Given the description of an element on the screen output the (x, y) to click on. 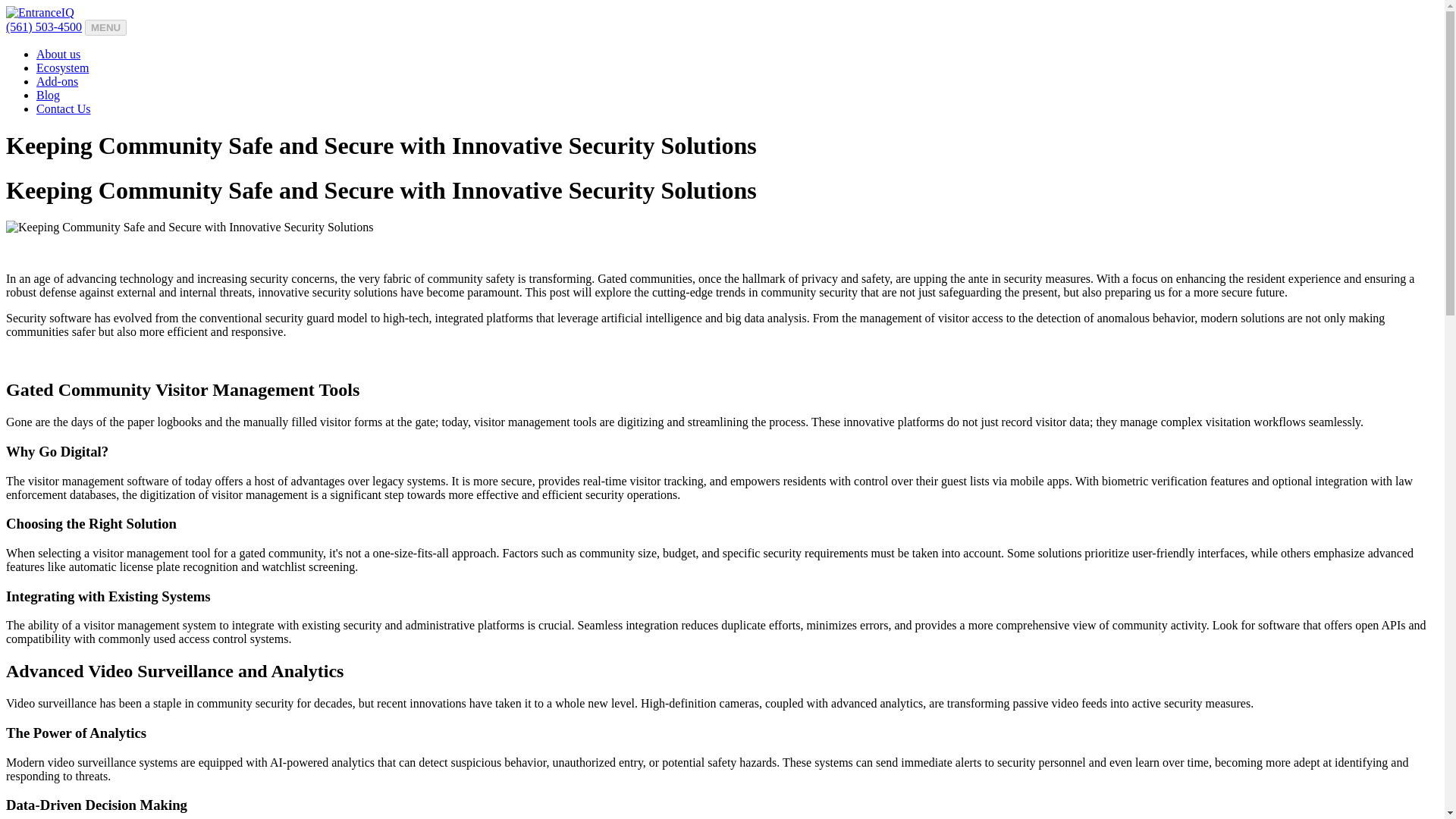
Contact Us (63, 108)
Ecosystem (62, 67)
Add-ons (57, 81)
Blog (47, 94)
Blog (47, 94)
About us (58, 53)
Contact Us (63, 108)
About us (58, 53)
MENU (105, 27)
Ecosystem (62, 67)
Add-ons (57, 81)
